Given the description of an element on the screen output the (x, y) to click on. 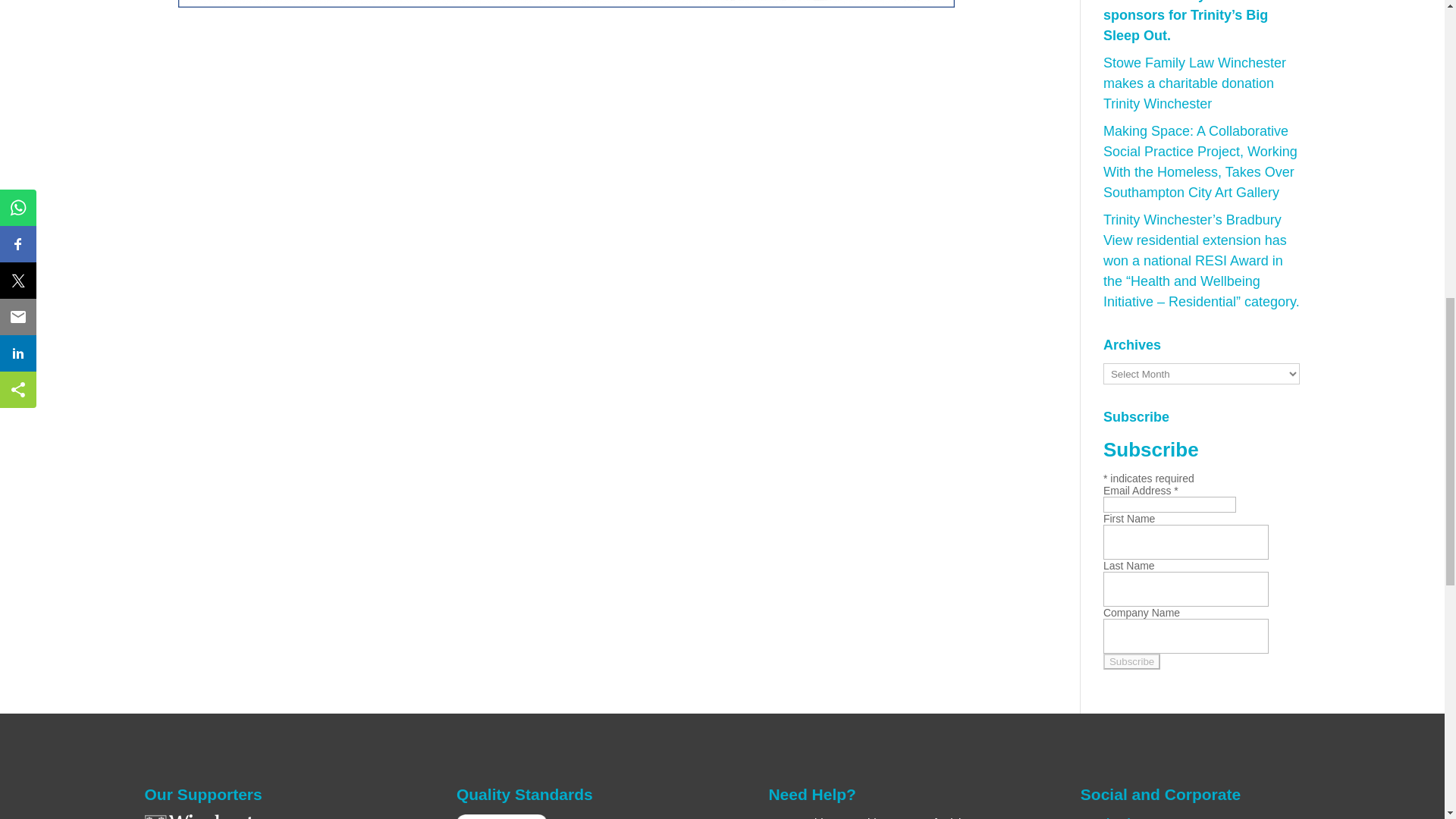
Subscribe (1131, 661)
